Given the description of an element on the screen output the (x, y) to click on. 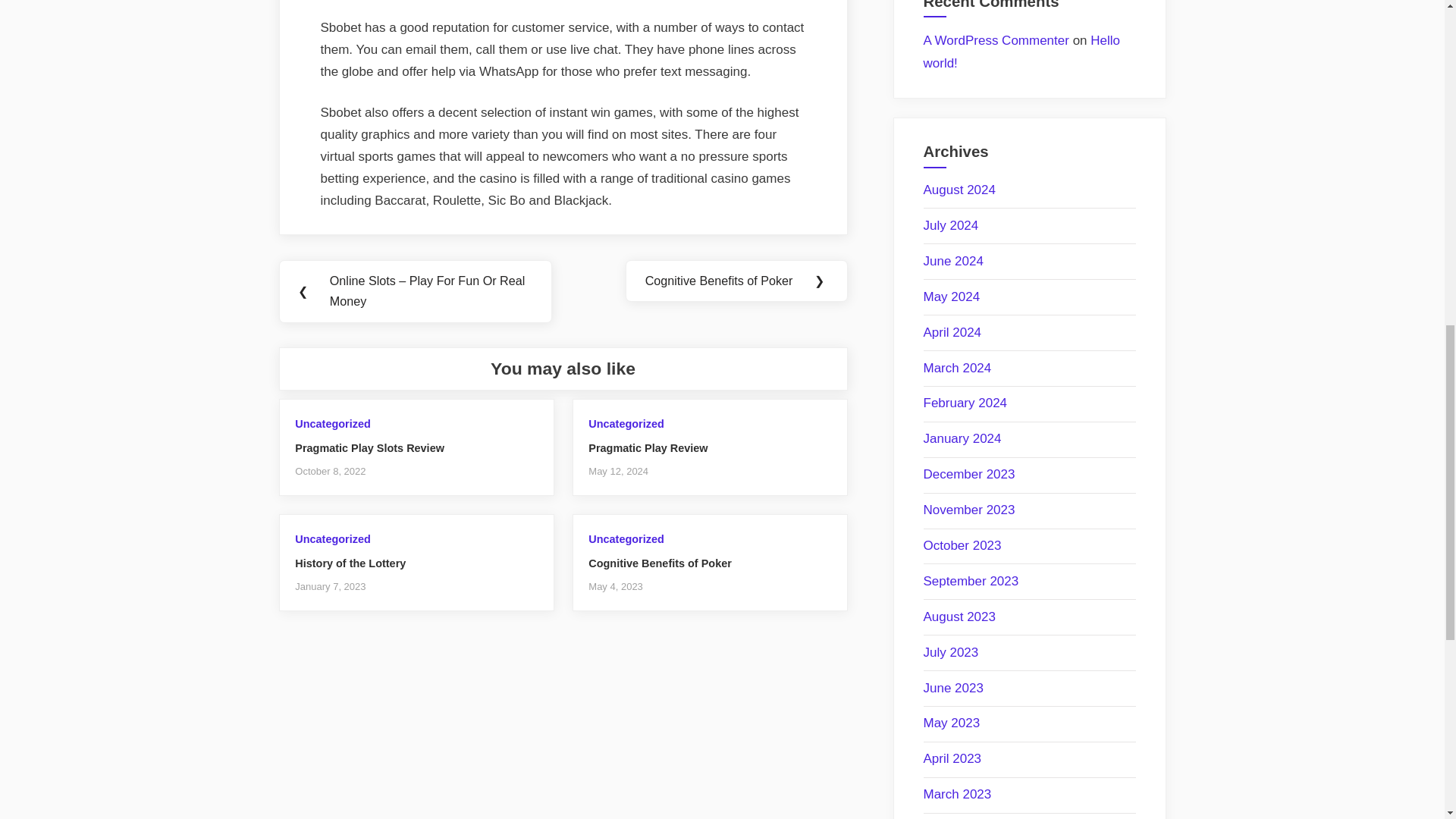
March 2024 (957, 368)
Pragmatic Play Slots Review (369, 448)
April 2024 (952, 332)
July 2024 (950, 225)
July 2023 (950, 652)
A WordPress Commenter (995, 40)
February 2024 (965, 402)
History of the Lottery (350, 563)
October 2023 (962, 545)
August 2024 (959, 189)
May 2024 (951, 296)
June 2024 (953, 260)
November 2023 (968, 509)
December 2023 (968, 473)
Uncategorized (625, 423)
